Given the description of an element on the screen output the (x, y) to click on. 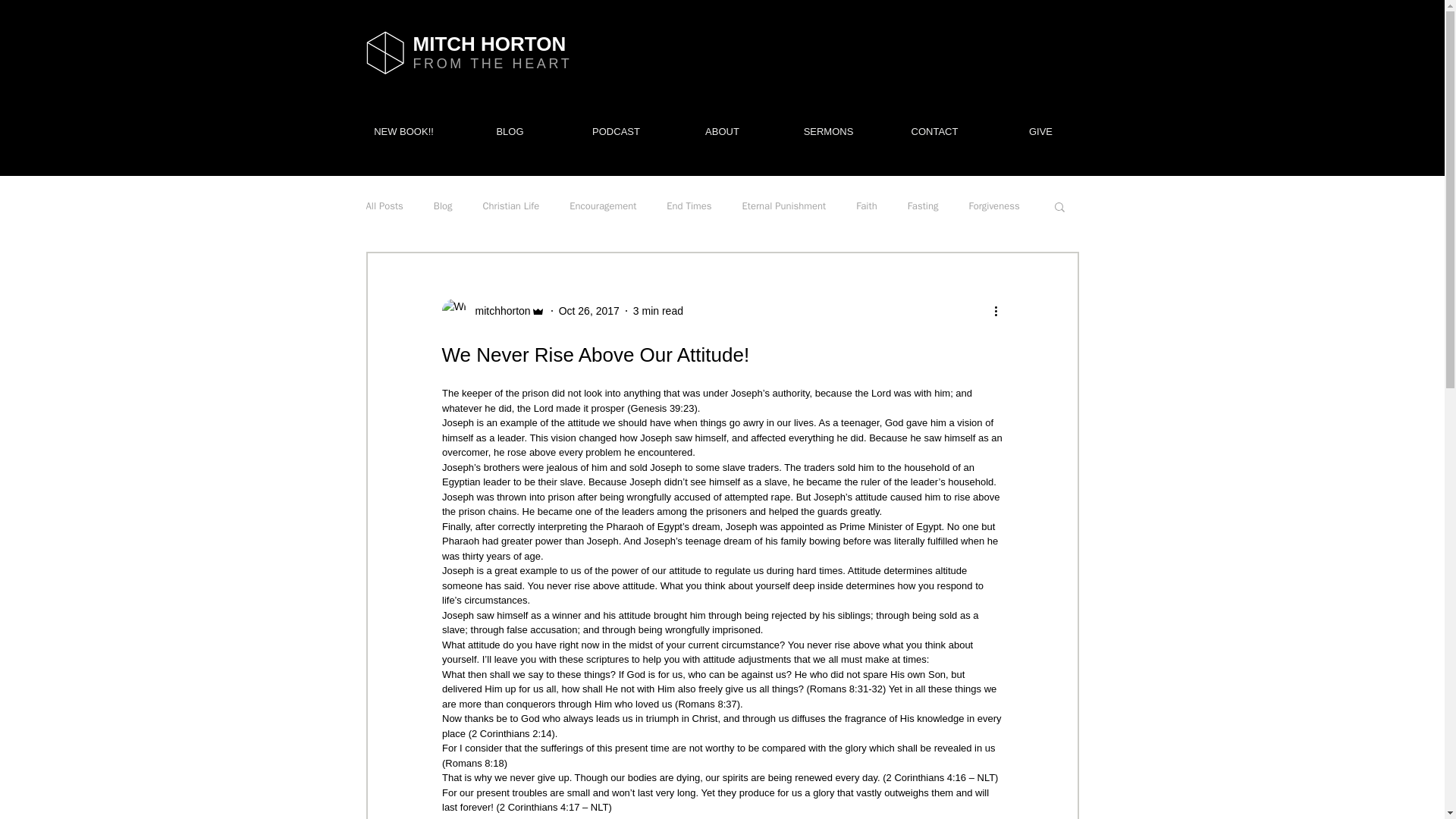
All Posts (384, 205)
GIVE (1040, 131)
Eternal Punishment (784, 205)
Forgiveness (993, 205)
End Times (688, 205)
Fasting (923, 205)
ABOUT (721, 131)
Christian Life (511, 205)
MITCH HORTON (489, 43)
3 min read (657, 310)
Encouragement (602, 205)
mitchhorton (497, 311)
Faith (866, 205)
CONTACT (933, 131)
SERMONS (827, 131)
